Given the description of an element on the screen output the (x, y) to click on. 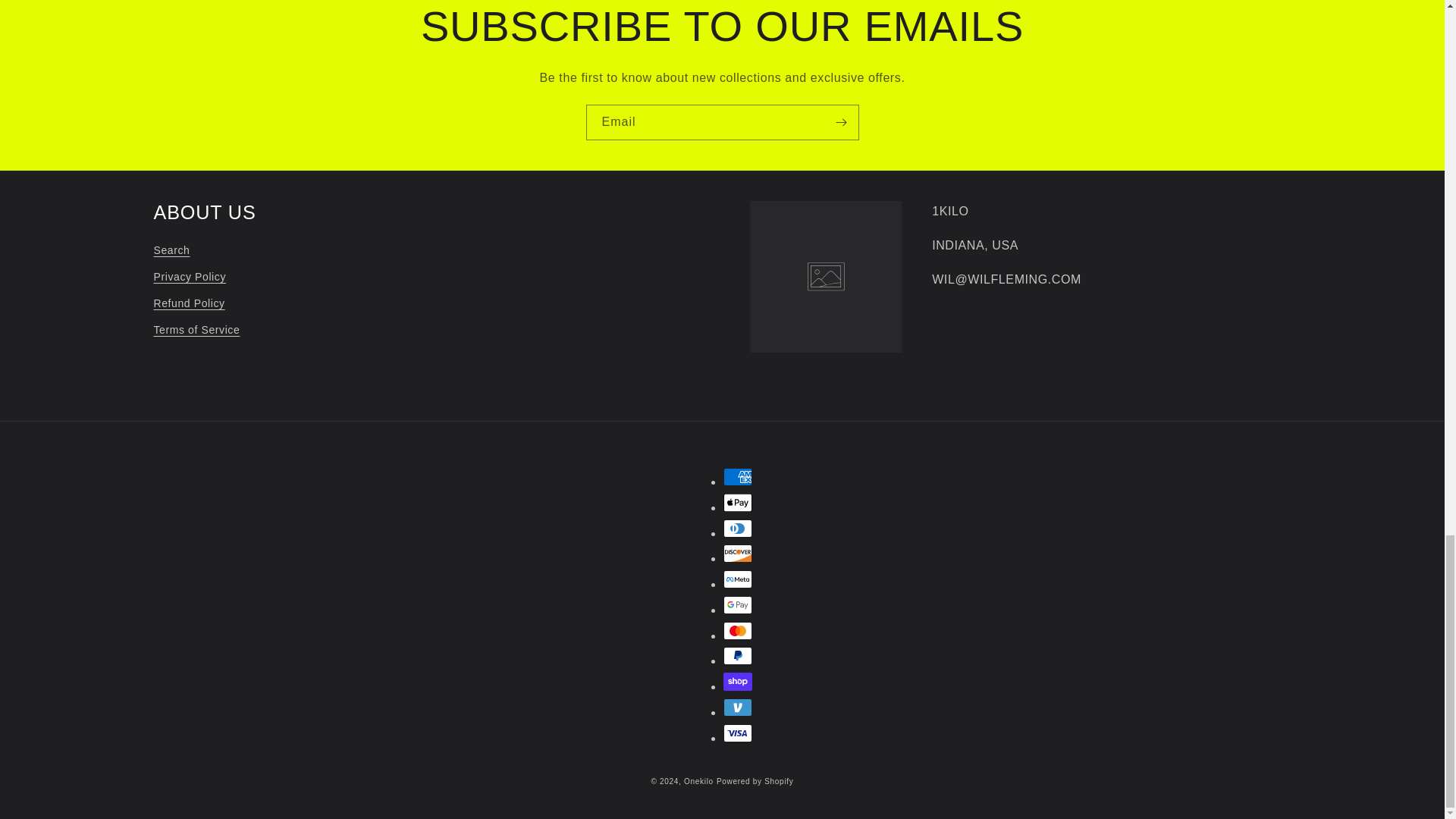
Apple Pay (737, 502)
Meta Pay (737, 579)
Discover (737, 553)
American Express (737, 476)
Diners Club (737, 528)
